Given the description of an element on the screen output the (x, y) to click on. 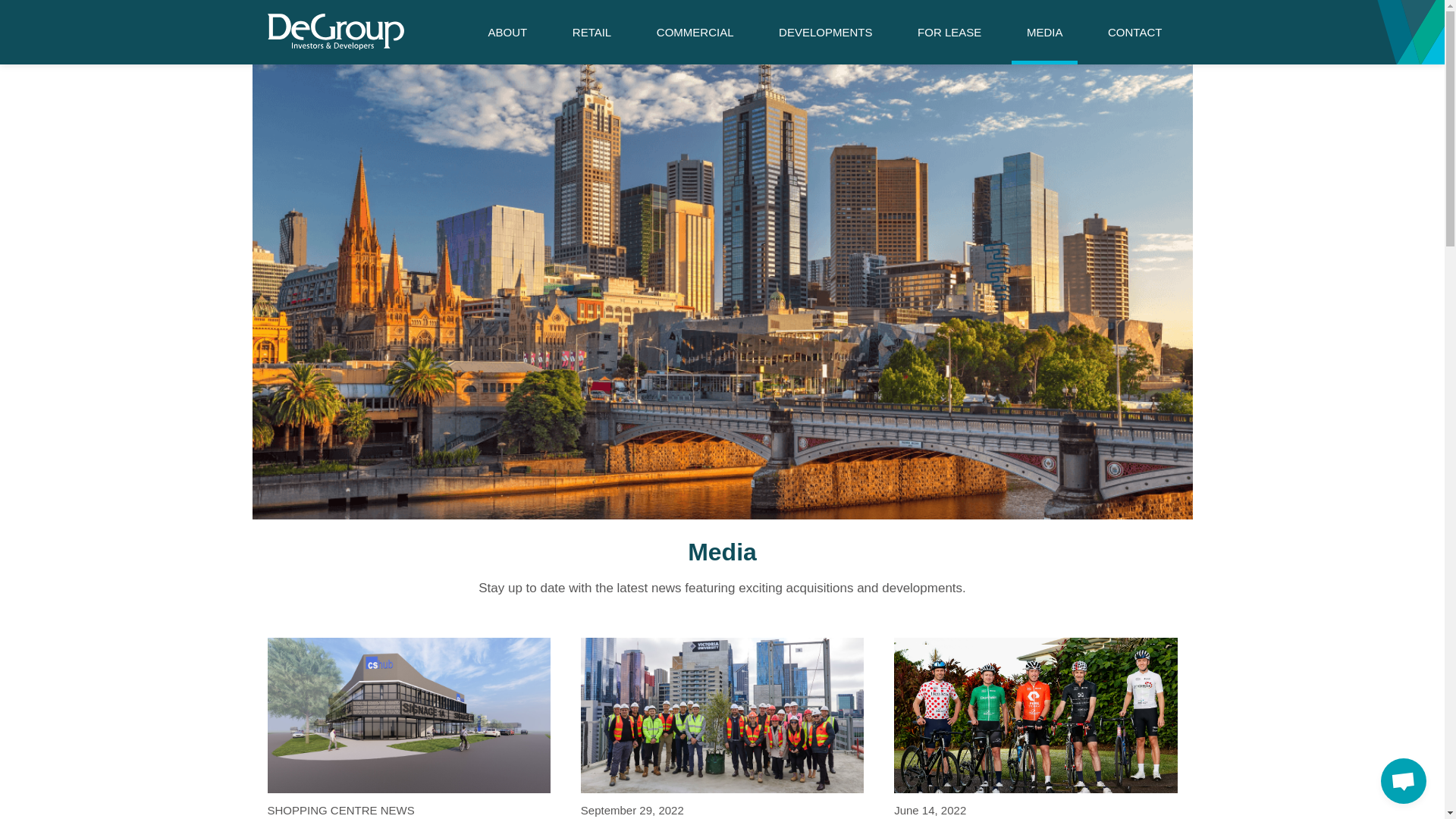
COMMERCIAL Element type: text (695, 32)
DEVELOPMENTS Element type: text (825, 32)
MEDIA Element type: text (1044, 32)
RETAIL Element type: text (591, 32)
FOR LEASE Element type: text (949, 32)
ABOUT Element type: text (507, 32)
CONTACT Element type: text (1134, 32)
